Given the description of an element on the screen output the (x, y) to click on. 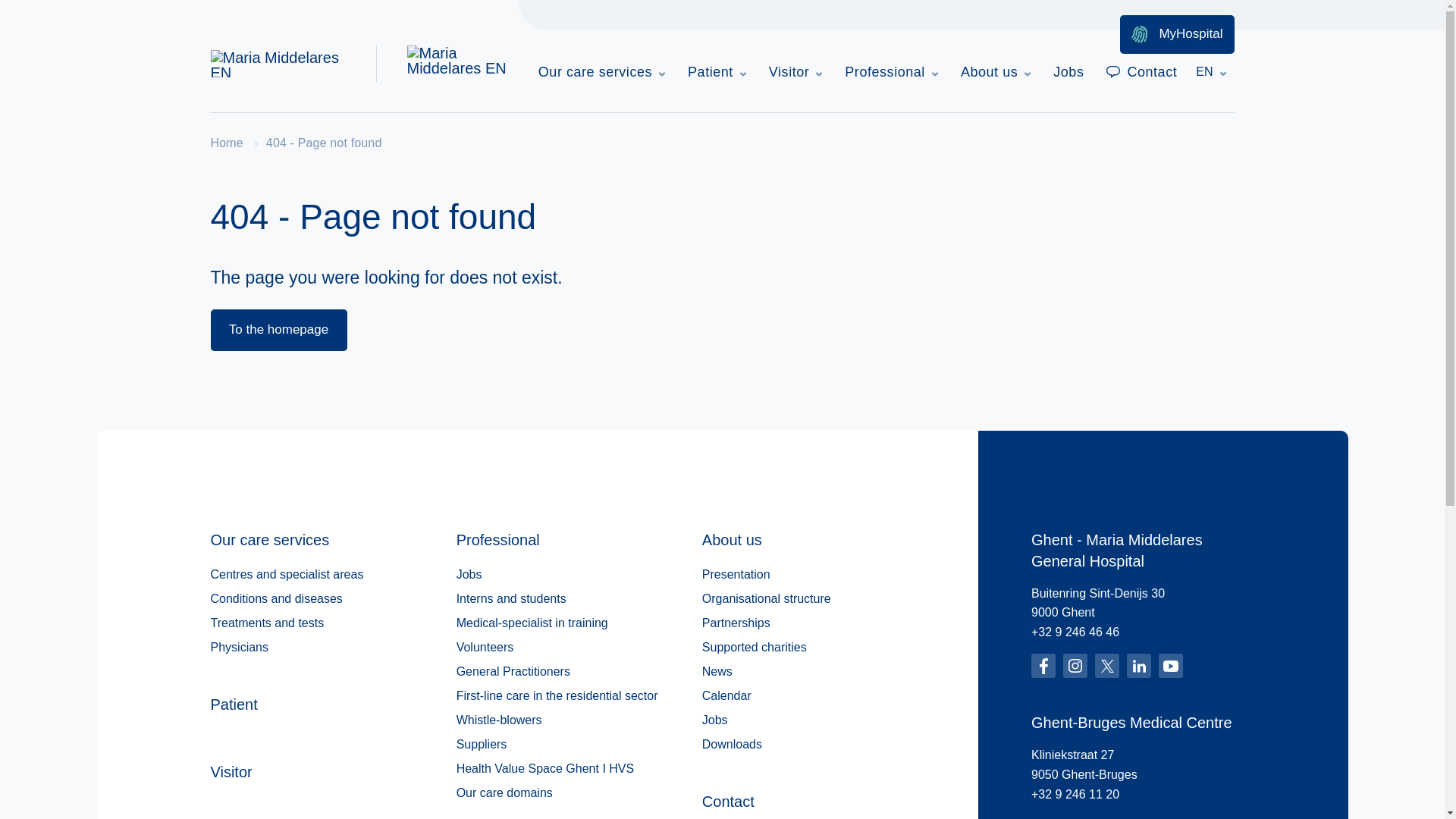
Our care services (601, 72)
MyHospital (1176, 34)
Visitor (795, 72)
Patient (716, 72)
Professional (890, 72)
